Given the description of an element on the screen output the (x, y) to click on. 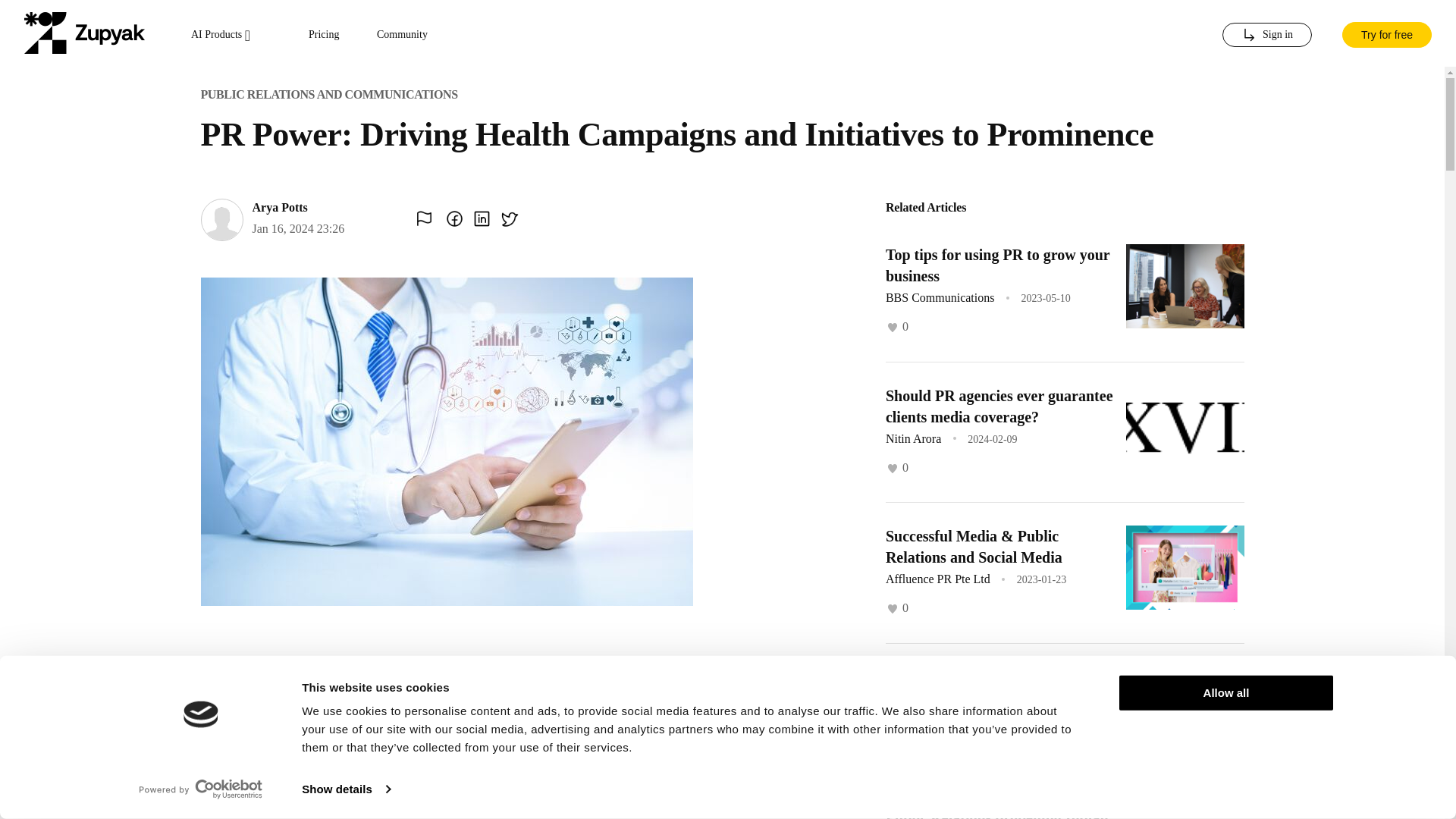
Should PR agencies ever guarantee clients media coverage? (999, 405)
Public Relations propelling Indian startups (996, 814)
Show details (345, 789)
The Future of Public Relations: Trends to Watch (987, 687)
Top tips for using PR to grow your business (997, 265)
